Given the description of an element on the screen output the (x, y) to click on. 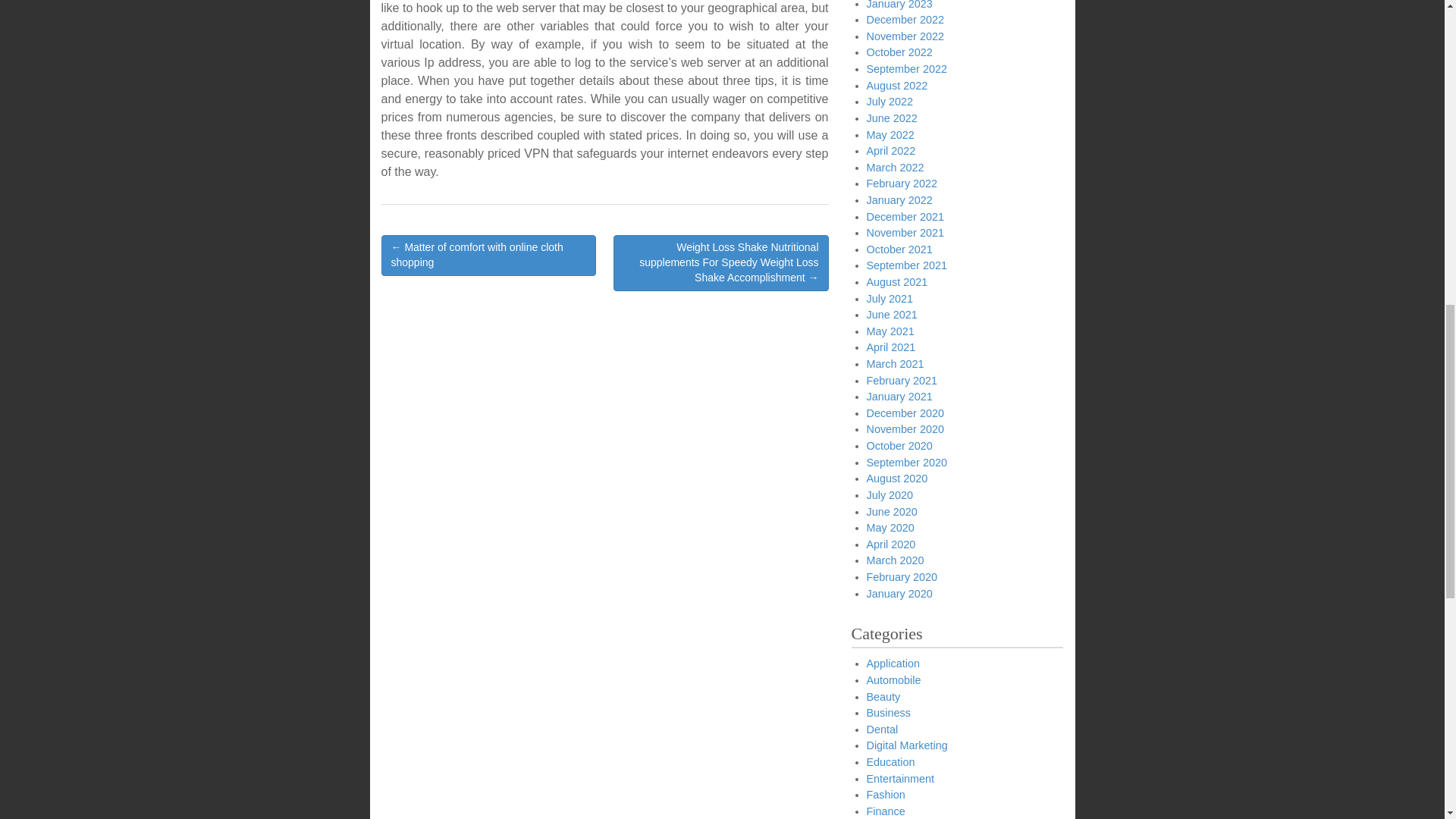
January 2023 (898, 4)
December 2022 (904, 19)
November 2022 (904, 36)
